Given the description of an element on the screen output the (x, y) to click on. 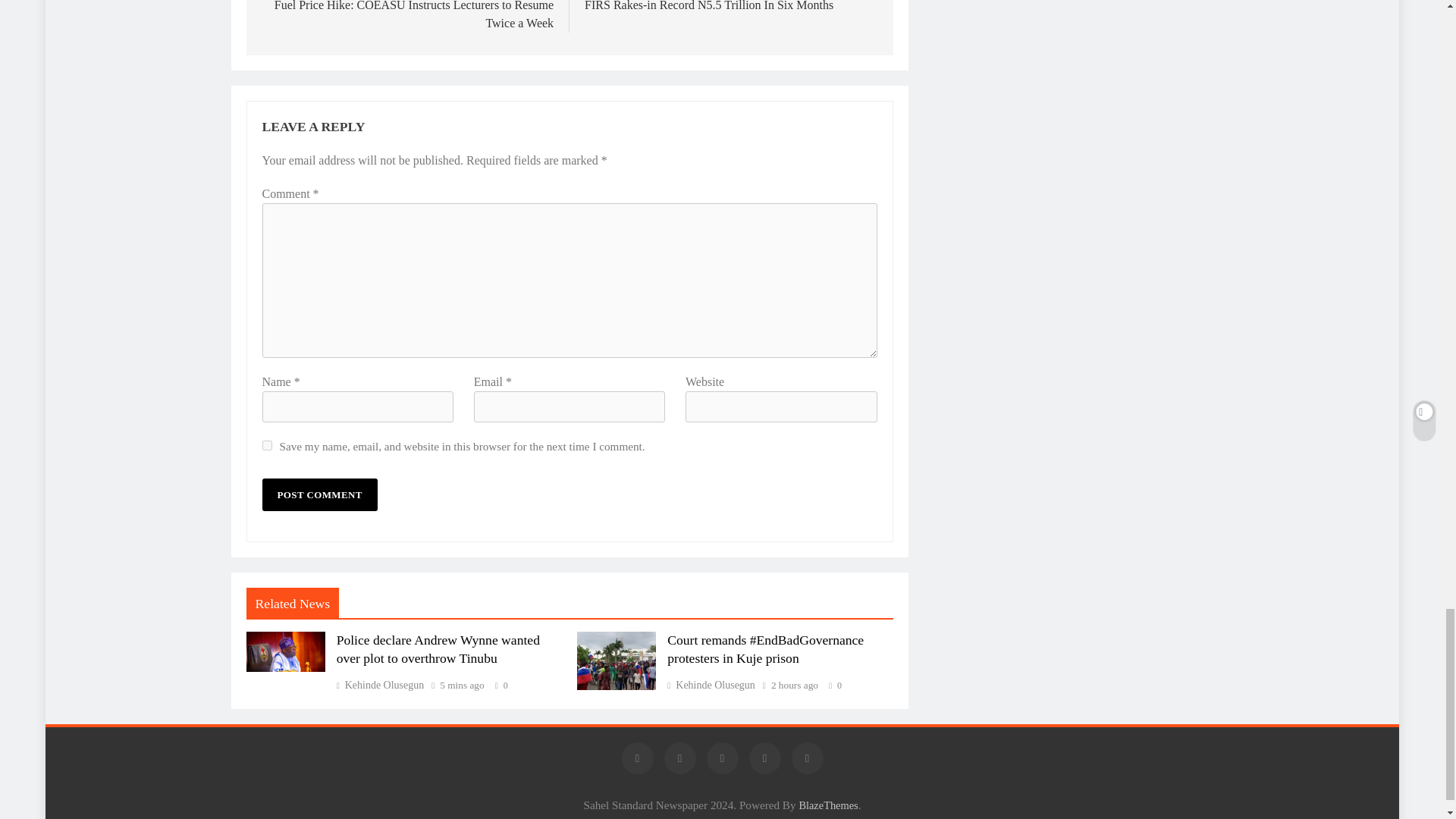
Kehinde Olusegun (380, 685)
yes (267, 445)
Post Comment (731, 5)
Post Comment (319, 494)
